Given the description of an element on the screen output the (x, y) to click on. 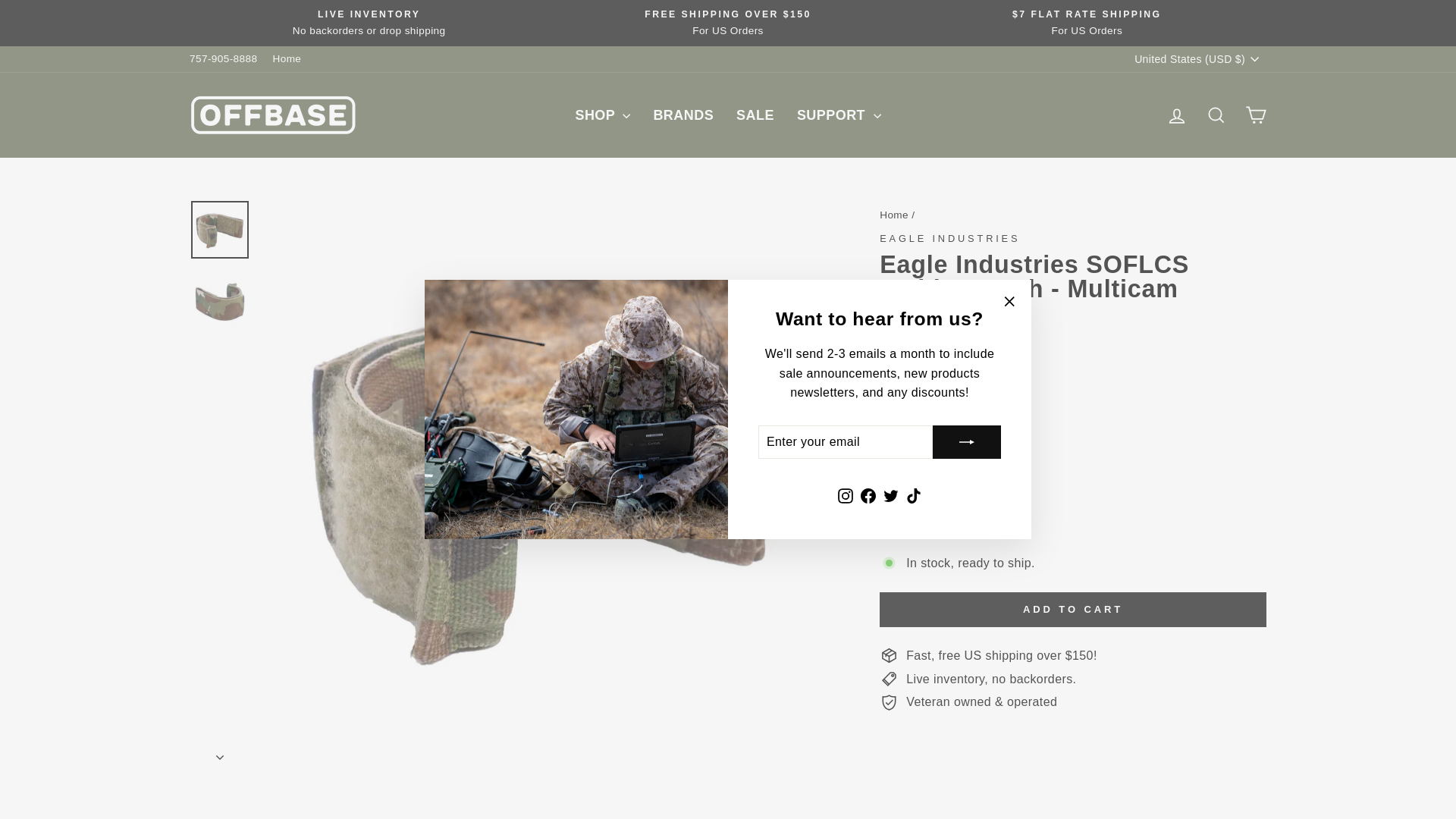
icon-X (1009, 301)
Back to the frontpage (893, 214)
icon-chevron (219, 757)
1 (909, 520)
ICON-SEARCH (1216, 115)
ACCOUNT (1177, 115)
